Given the description of an element on the screen output the (x, y) to click on. 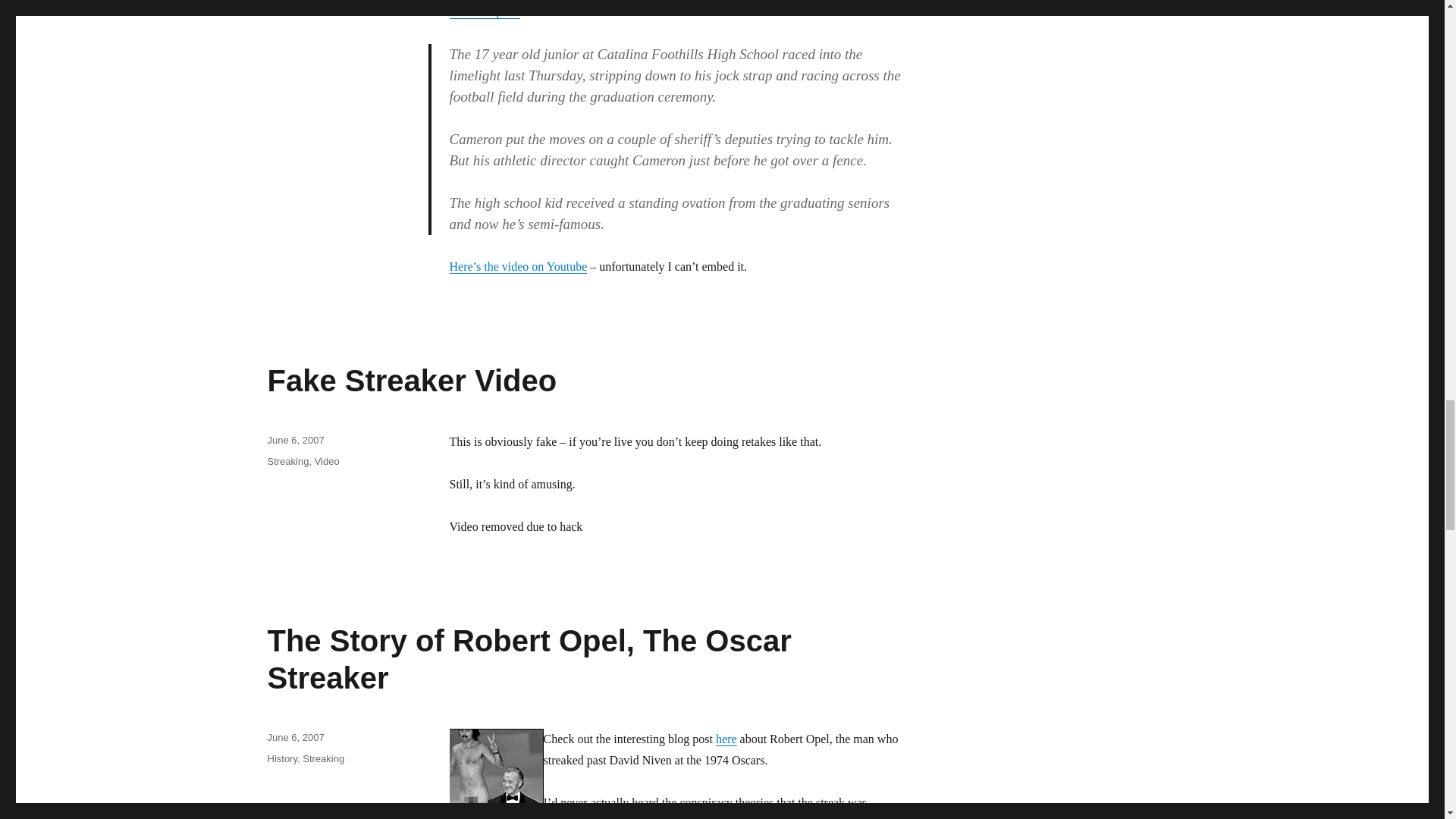
KVOA reports (483, 11)
